Given the description of an element on the screen output the (x, y) to click on. 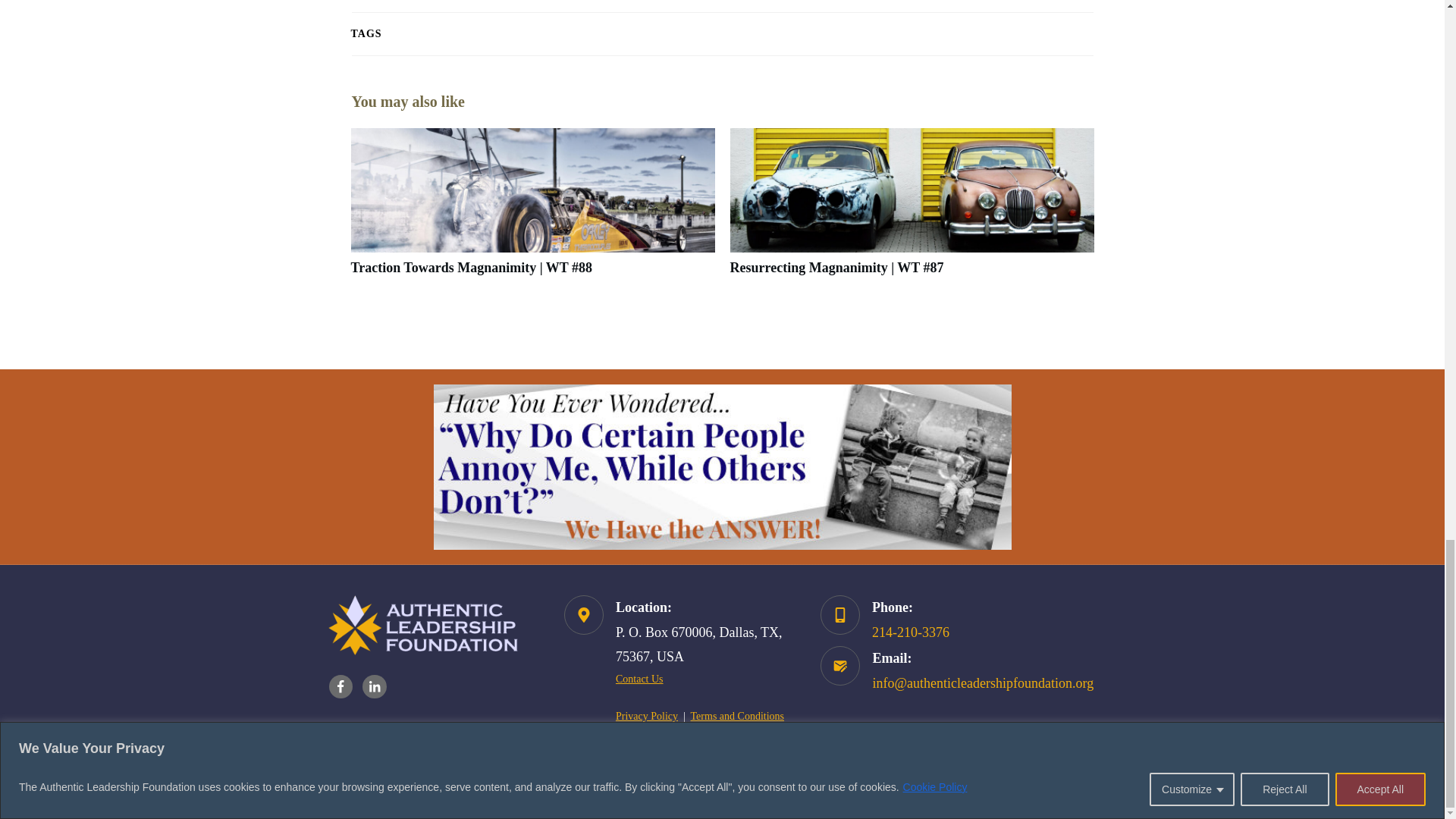
Annoy me banner (722, 466)
